Given the description of an element on the screen output the (x, y) to click on. 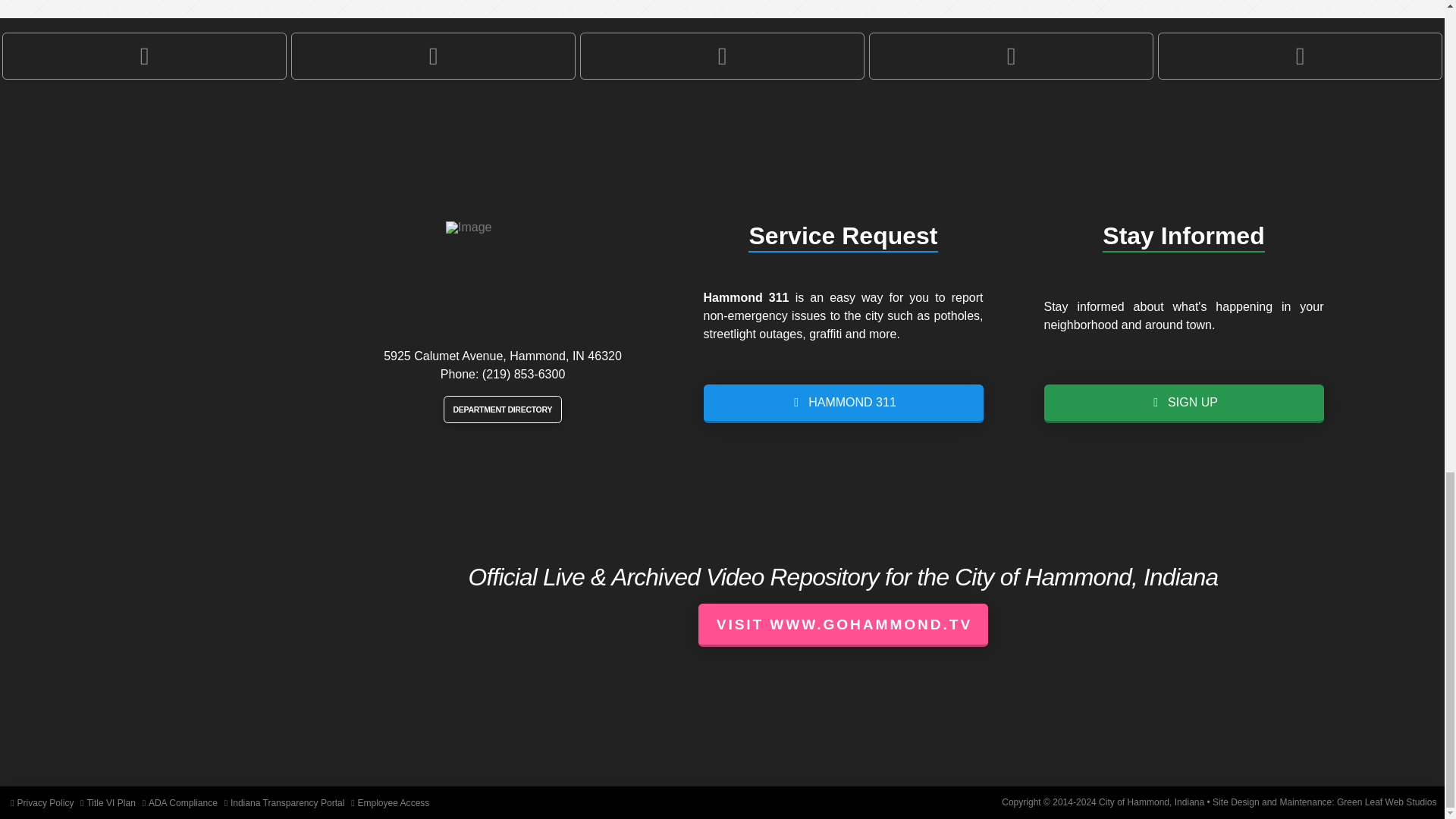
Indiana Transparency Portal (285, 802)
Title VI Plan (107, 802)
ADA Compliance (180, 802)
